Given the description of an element on the screen output the (x, y) to click on. 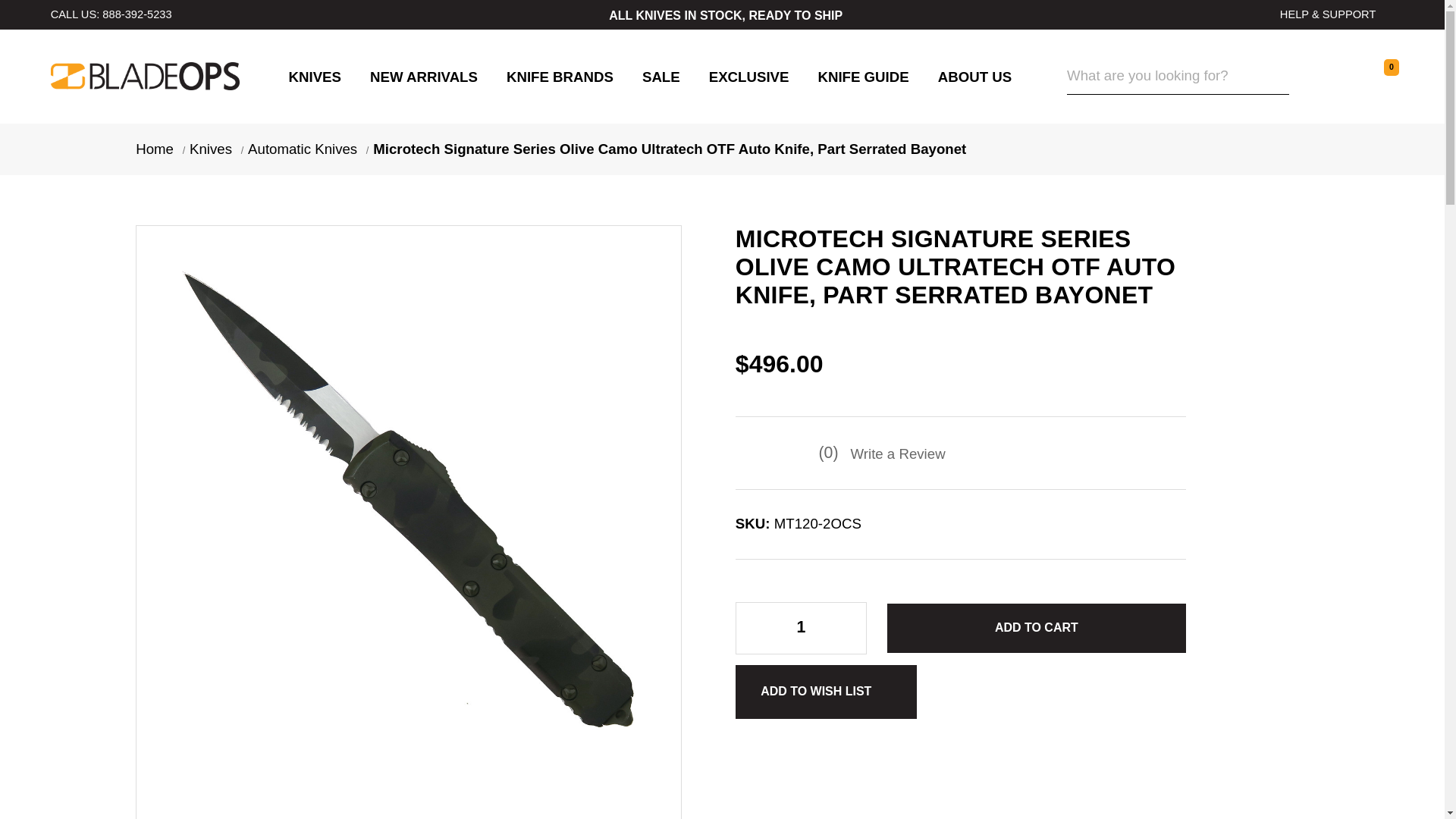
BladeOps (145, 76)
Add to Cart (1036, 627)
